Given the description of an element on the screen output the (x, y) to click on. 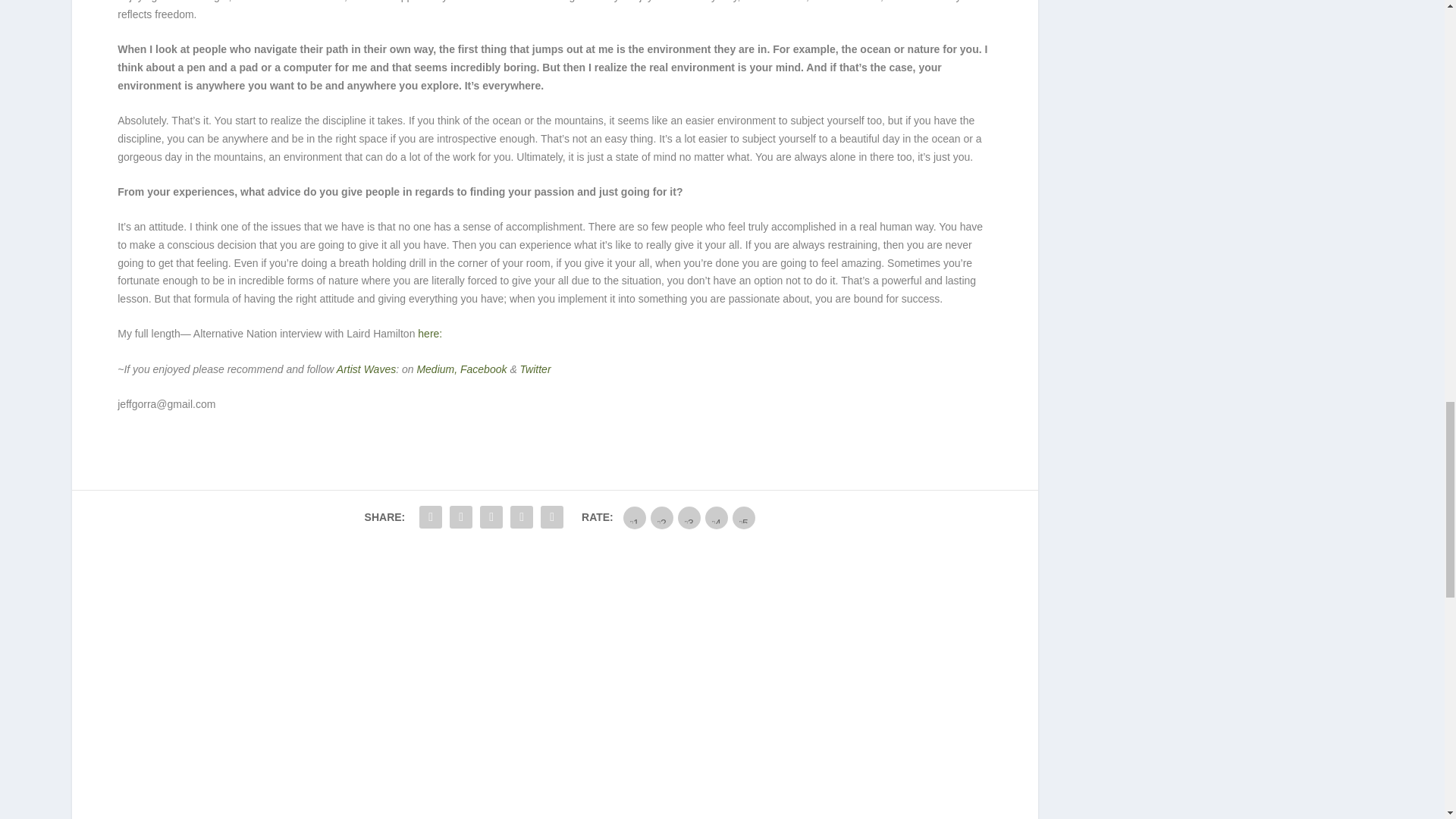
Artist Waves (366, 369)
bad (634, 517)
poor (661, 517)
here: (429, 333)
